Given the description of an element on the screen output the (x, y) to click on. 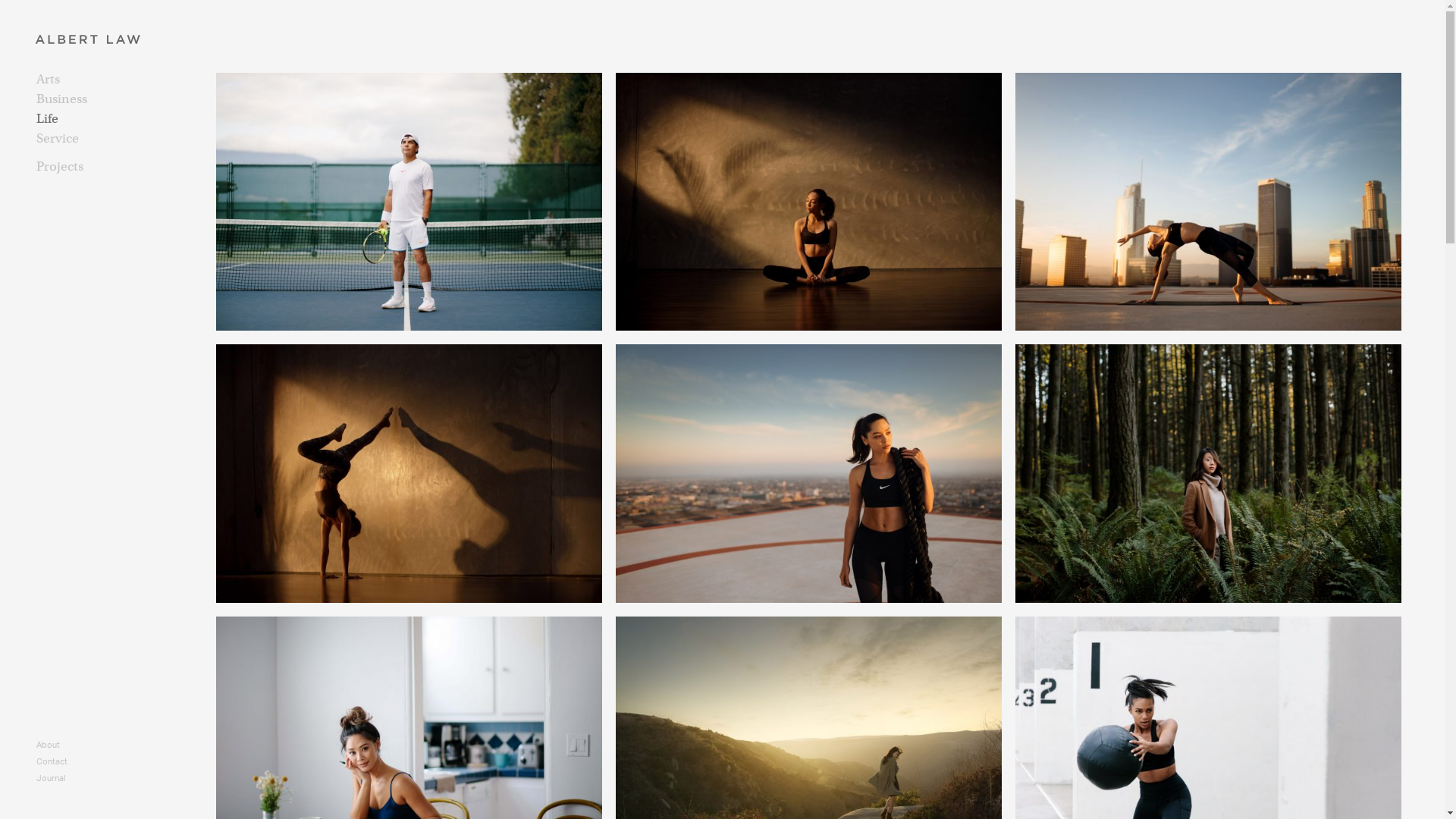
Life Element type: text (127, 118)
Service Element type: text (127, 138)
About Element type: text (47, 744)
Arts Element type: text (127, 79)
Boxing with Nyousha Element type: text (80, 186)
Journal Element type: text (50, 777)
Contact Element type: text (51, 761)
Business Element type: text (127, 99)
